Given the description of an element on the screen output the (x, y) to click on. 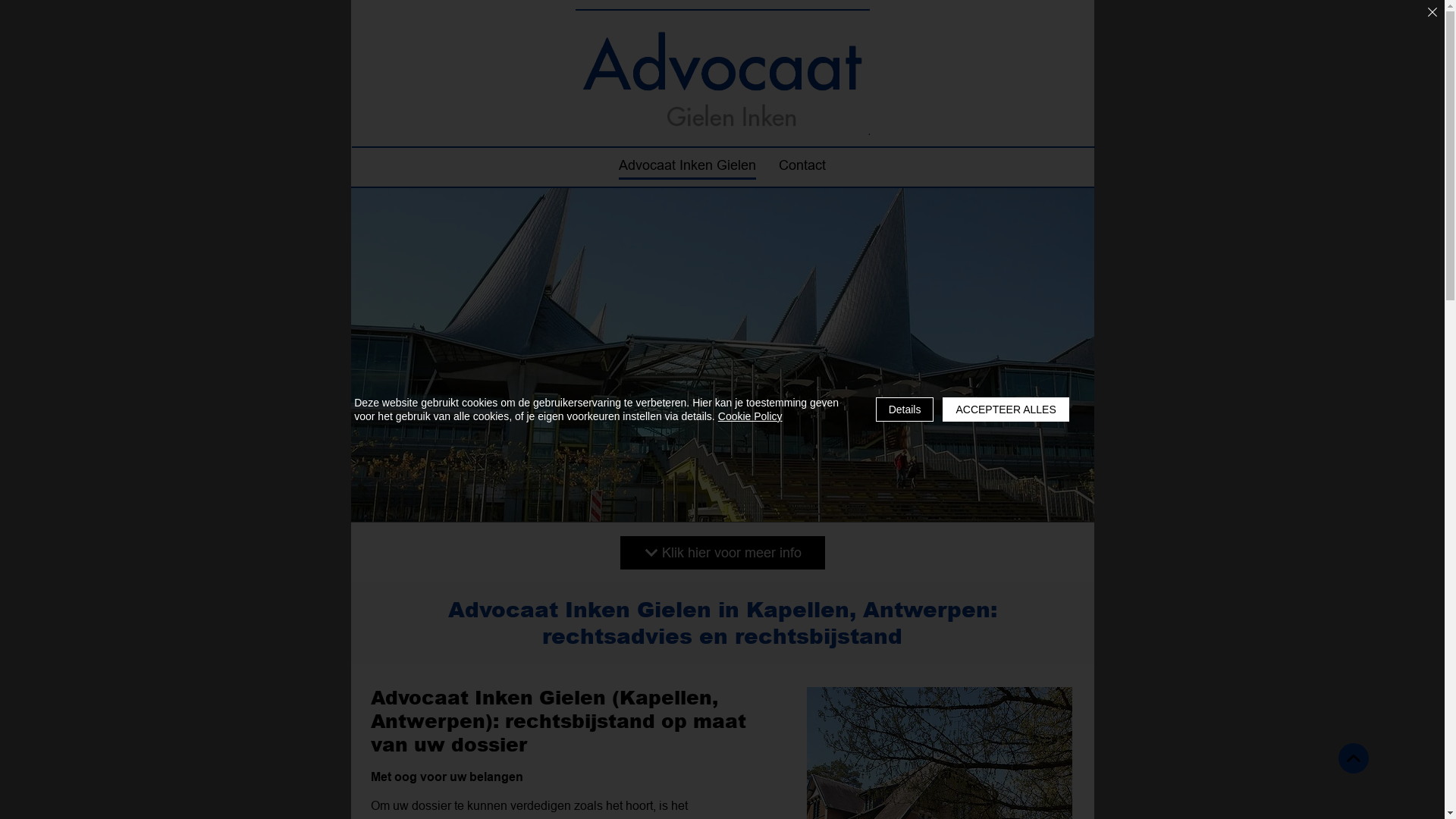
Klik hier voor meer info Element type: text (722, 552)
 Advocaat Inken Gielen Element type: hover (721, 71)
Advocaat Inken Gielen Element type: text (687, 166)
Cookie Policy Element type: text (750, 416)
Details Element type: text (904, 409)
Contact Element type: text (801, 166)
ACCEPTEER ALLES Element type: text (1005, 409)
